Given the description of an element on the screen output the (x, y) to click on. 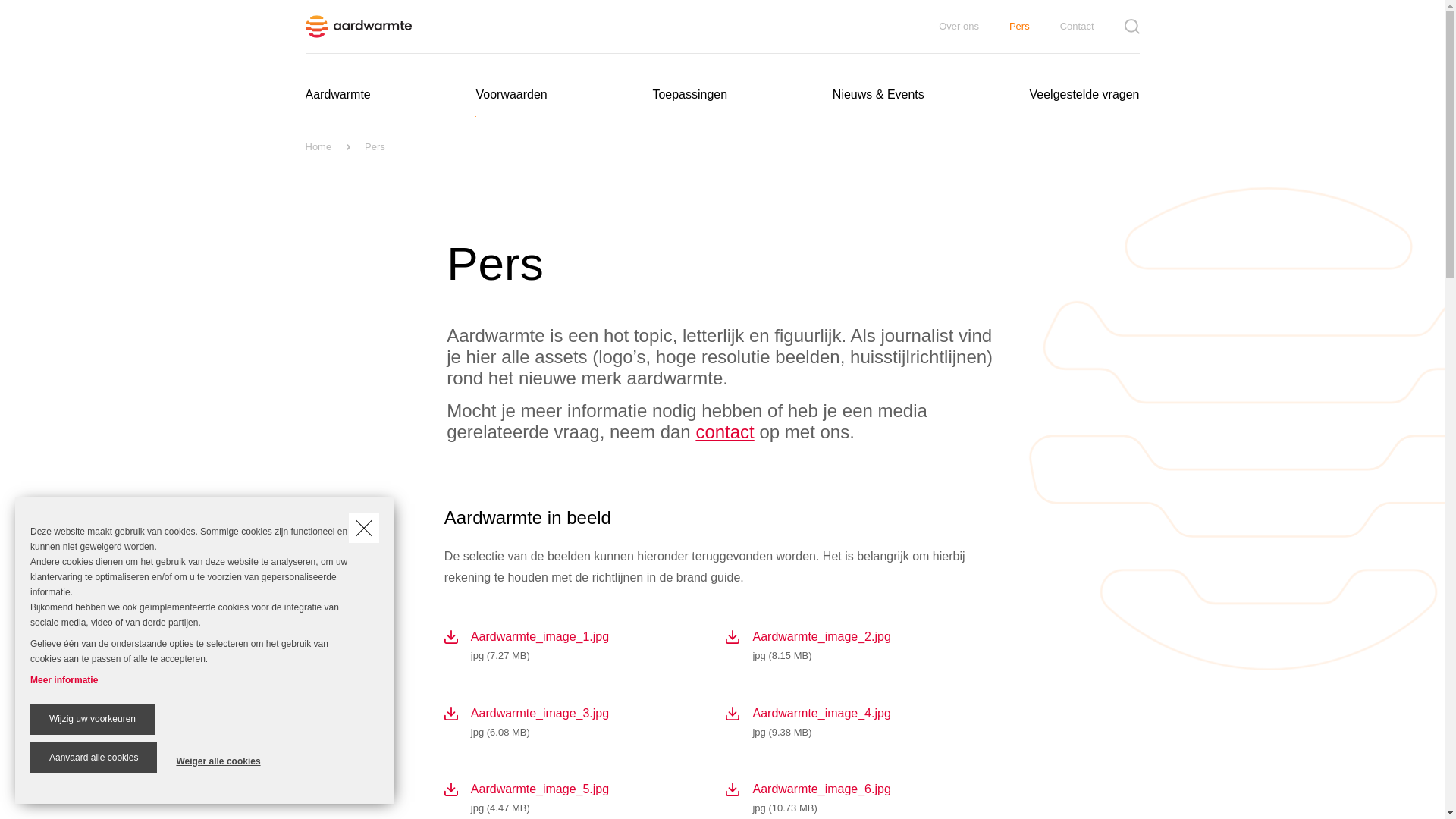
Weiger alle cookies Element type: text (217, 761)
Veelgestelde vragen Element type: text (1084, 94)
Pers Element type: text (1034, 26)
Home Element type: text (317, 146)
Aanvaard alle cookies Element type: text (93, 757)
Overslaan en naar de inhoud gaan Element type: text (0, 0)
Zoeken Element type: text (1131, 26)
Aardwarmte_image_6.jpg Element type: text (821, 788)
Aardwarmte_image_5.jpg Element type: text (539, 788)
Wijzig uw voorkeuren Element type: text (92, 718)
Toepassingen Element type: text (689, 94)
Nieuws & Events Element type: text (878, 94)
Voorwaarden Element type: text (510, 94)
contact Element type: text (724, 431)
Over ons Element type: text (973, 26)
Aardwarmte_image_1.jpg Element type: text (539, 636)
Meer informatie Element type: text (63, 679)
Aardwarmte Element type: text (337, 94)
Contact Element type: text (1092, 26)
Aardwarmte_image_3.jpg Element type: text (539, 712)
Aardwarmte_image_4.jpg Element type: text (821, 712)
Aardwarmte_image_2.jpg Element type: text (821, 636)
